Given the description of an element on the screen output the (x, y) to click on. 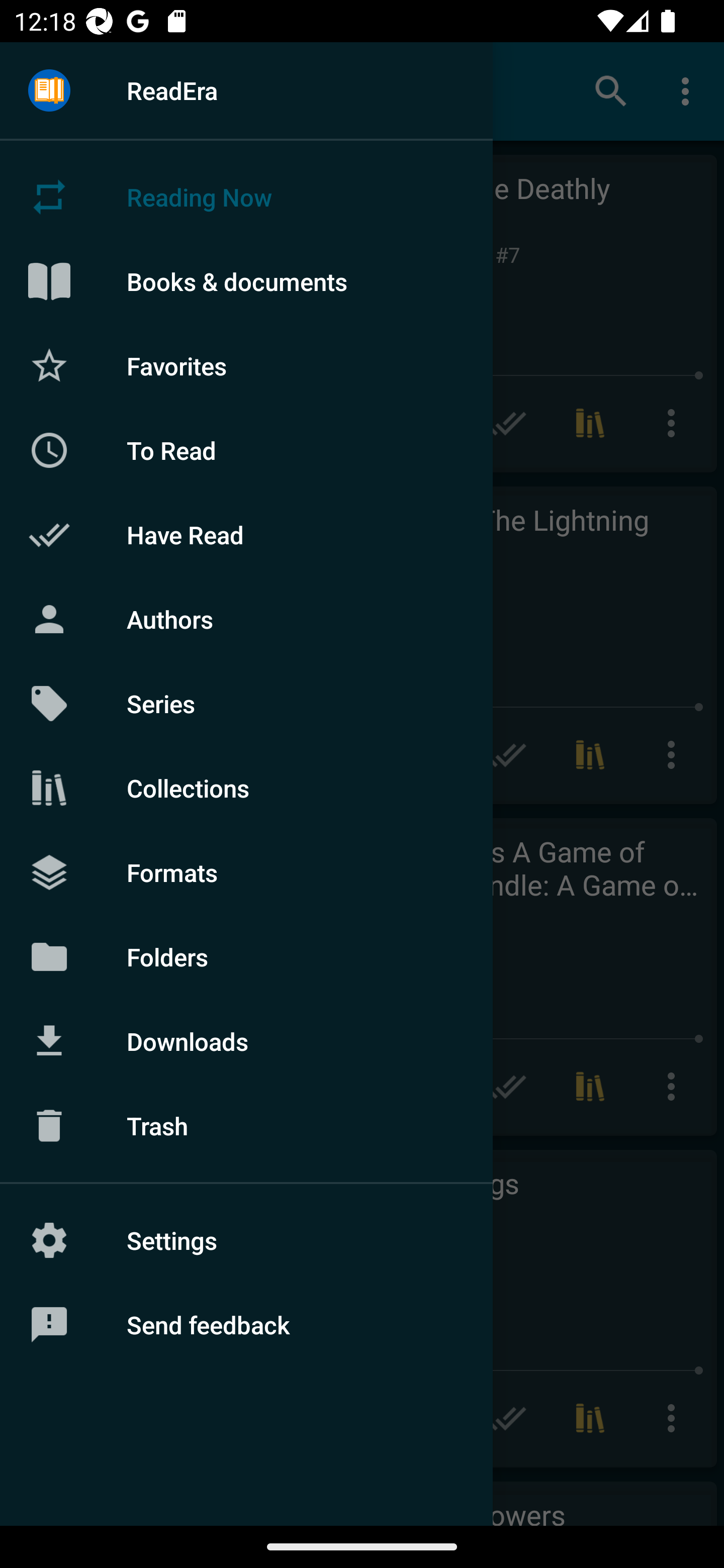
Menu (49, 91)
ReadEra (246, 89)
Search books & documents (611, 90)
More options (688, 90)
Reading Now (246, 197)
Books & documents (246, 281)
Favorites (246, 365)
To Read (246, 449)
Have Read (246, 534)
Authors (246, 619)
Series (246, 703)
Collections (246, 787)
Formats (246, 871)
Folders (246, 956)
Downloads (246, 1040)
Trash (246, 1125)
Settings (246, 1239)
Send feedback (246, 1324)
